Given the description of an element on the screen output the (x, y) to click on. 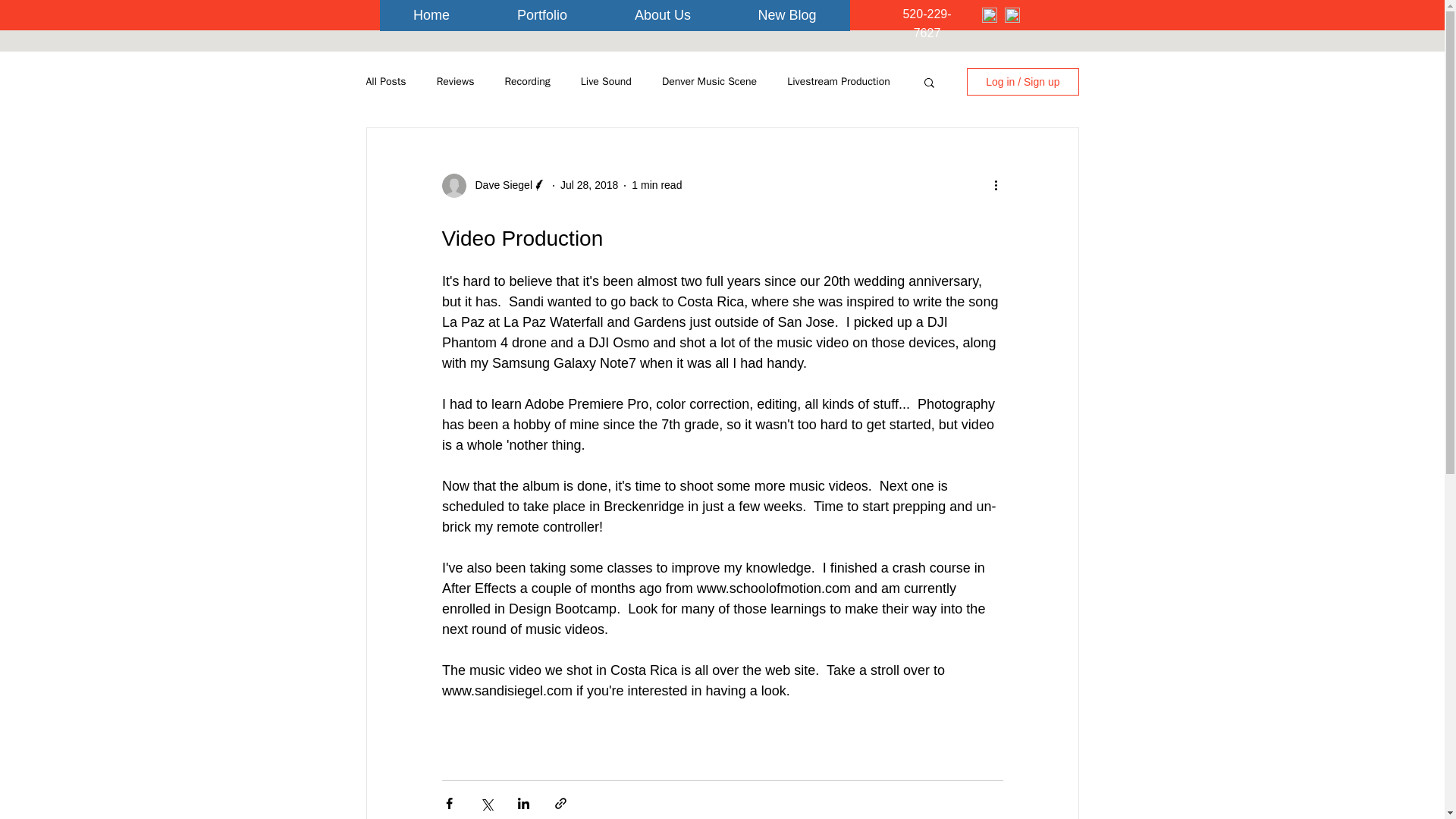
New Blog (787, 15)
All Posts (385, 81)
1 min read (656, 184)
Jul 28, 2018 (588, 184)
Recording (526, 81)
Live Sound (605, 81)
Denver Music Scene (709, 81)
Reviews (455, 81)
Livestream Production (838, 81)
Home (430, 15)
Dave Siegel (498, 185)
